Given the description of an element on the screen output the (x, y) to click on. 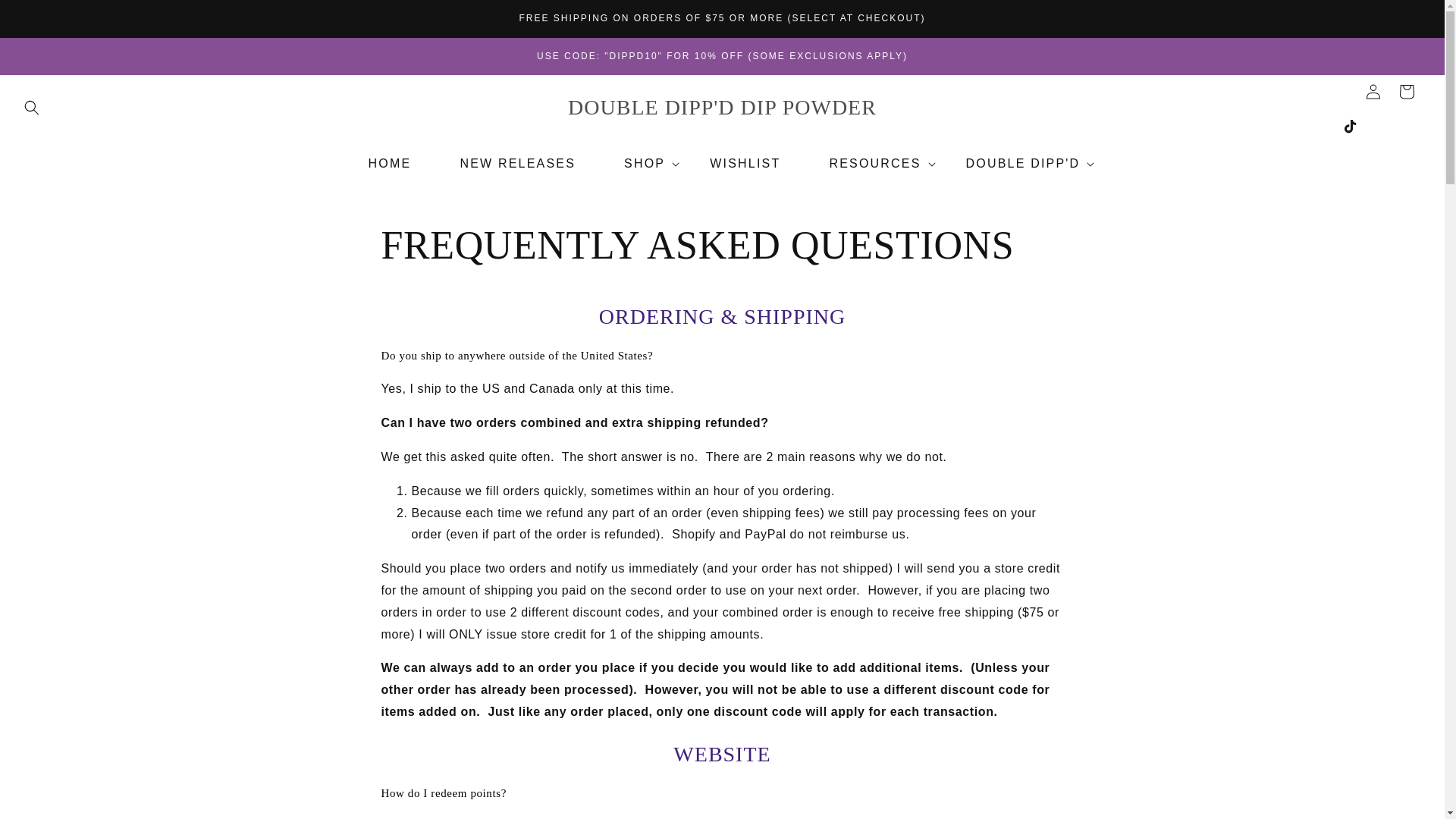
SKIP TO CONTENT (45, 16)
DOUBLE DIPP'D DIP POWDER (721, 107)
HOME (389, 163)
